Given the description of an element on the screen output the (x, y) to click on. 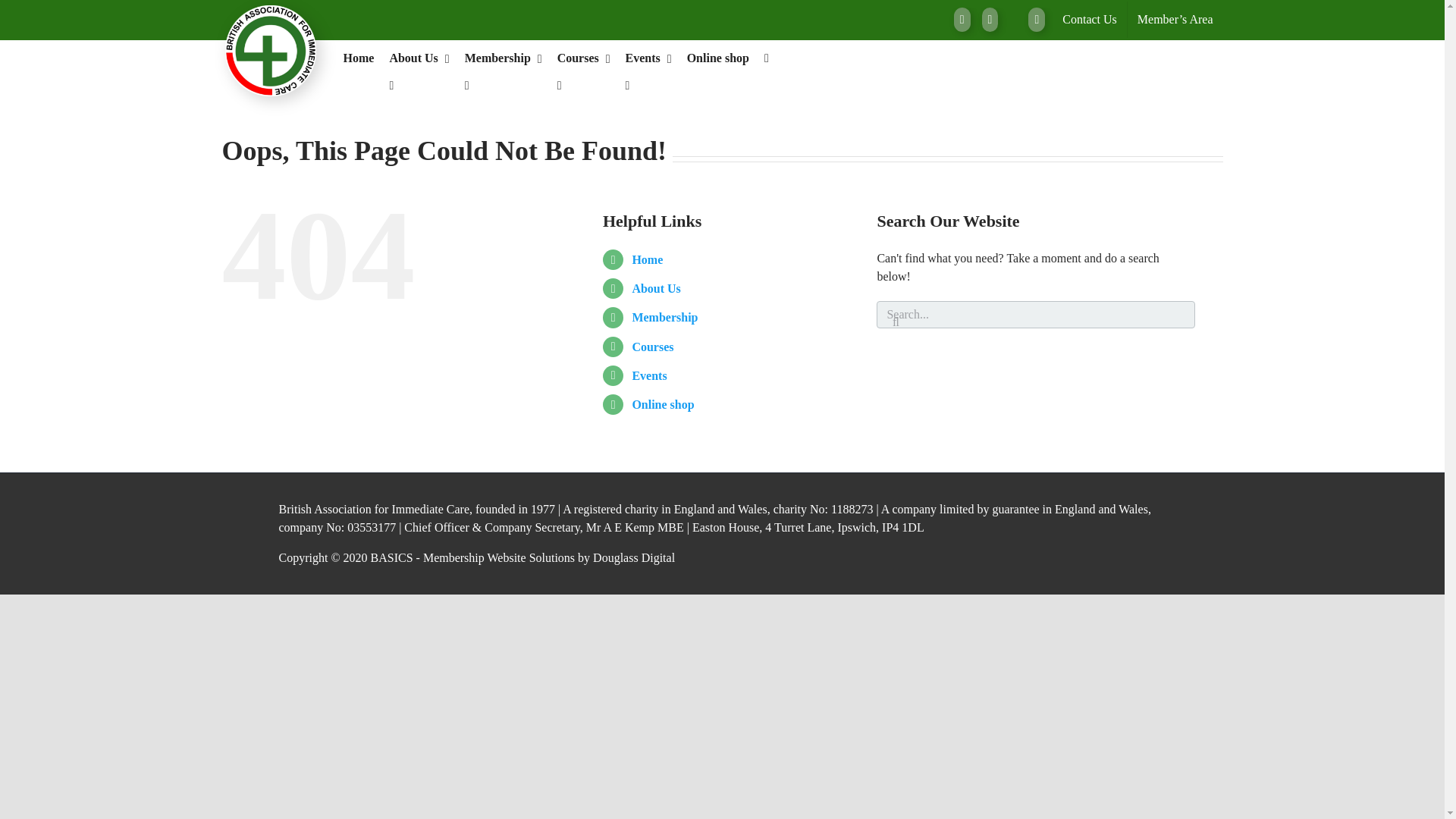
Twitter (962, 19)
Courses (583, 58)
About Us (418, 58)
Instagram (990, 19)
Contact Us (1089, 19)
Facebook (1036, 19)
Membership (502, 58)
